Given the description of an element on the screen output the (x, y) to click on. 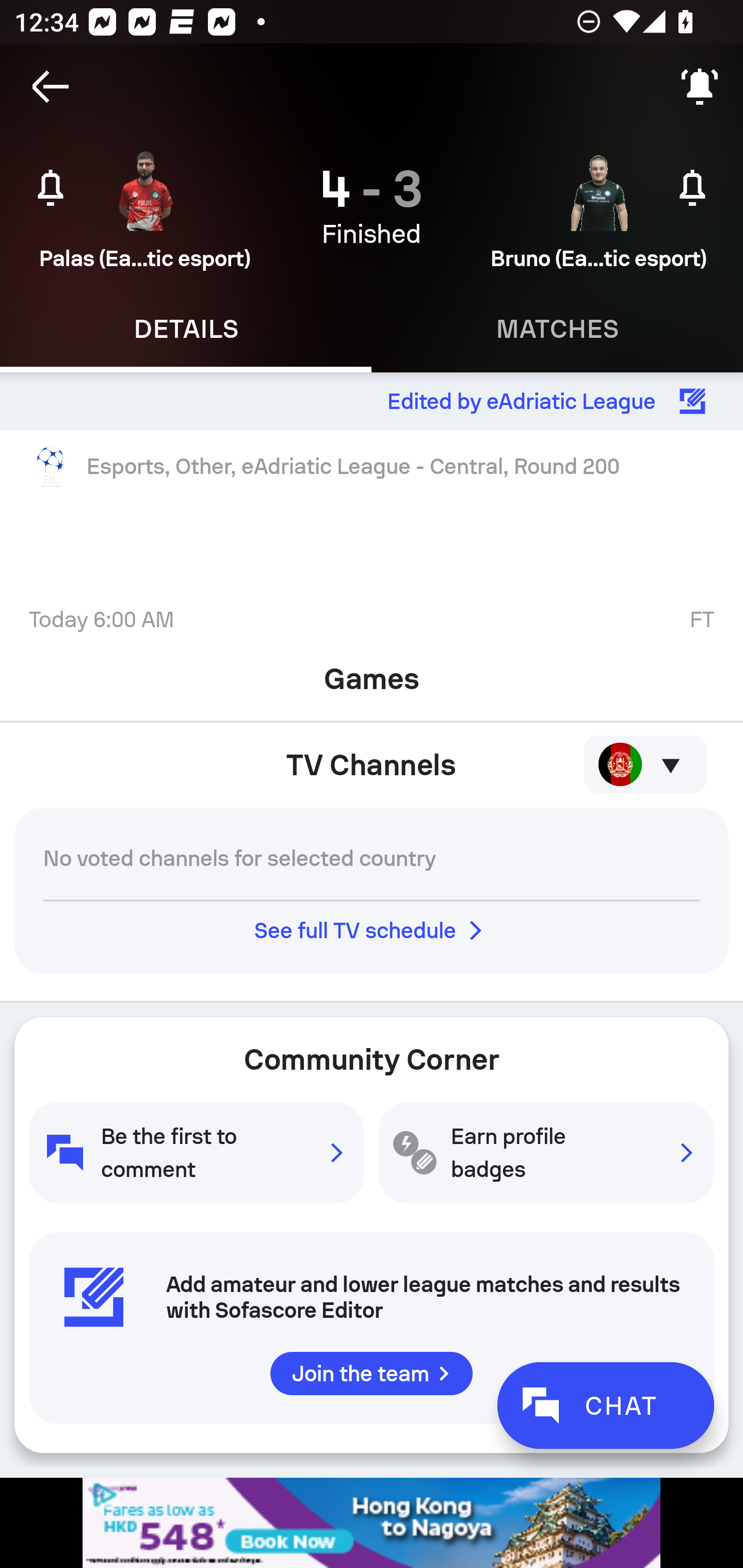
Navigate up (50, 86)
Matches MATCHES (557, 329)
Edited by eAdriatic League (371, 401)
Games (371, 672)
See full TV schedule (371, 930)
Be the first to comment (196, 1152)
Earn profile badges (546, 1152)
Join the team (371, 1373)
CHAT (605, 1405)
wi46309w_320x50 (371, 1522)
